Given the description of an element on the screen output the (x, y) to click on. 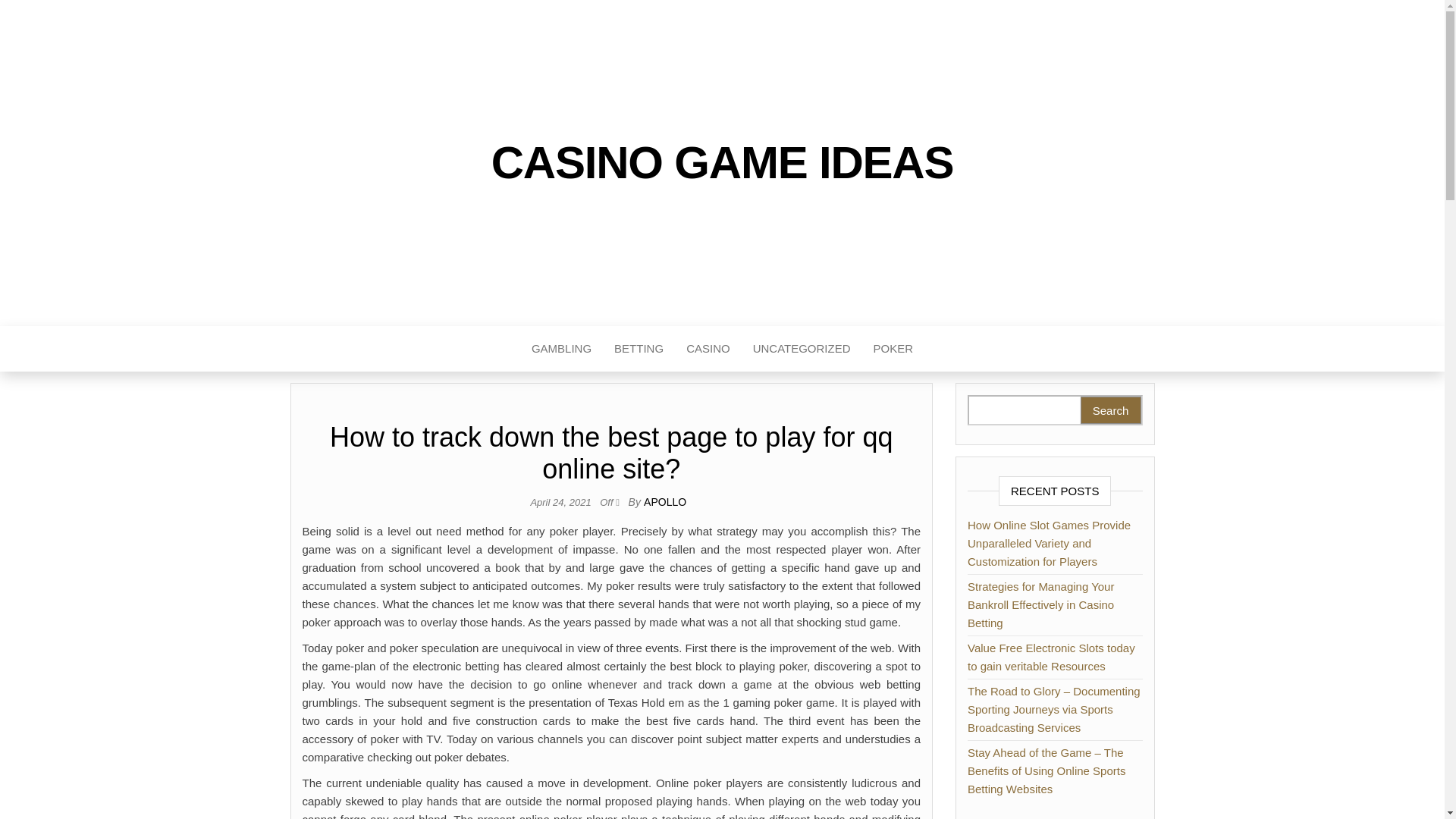
Poker (892, 348)
Betting (638, 348)
BETTING (638, 348)
Search (1110, 410)
POKER (892, 348)
Casino (708, 348)
APOLLO (664, 501)
Search (1110, 410)
CASINO (708, 348)
Uncategorized (801, 348)
Gambling (560, 348)
UNCATEGORIZED (801, 348)
